Given the description of an element on the screen output the (x, y) to click on. 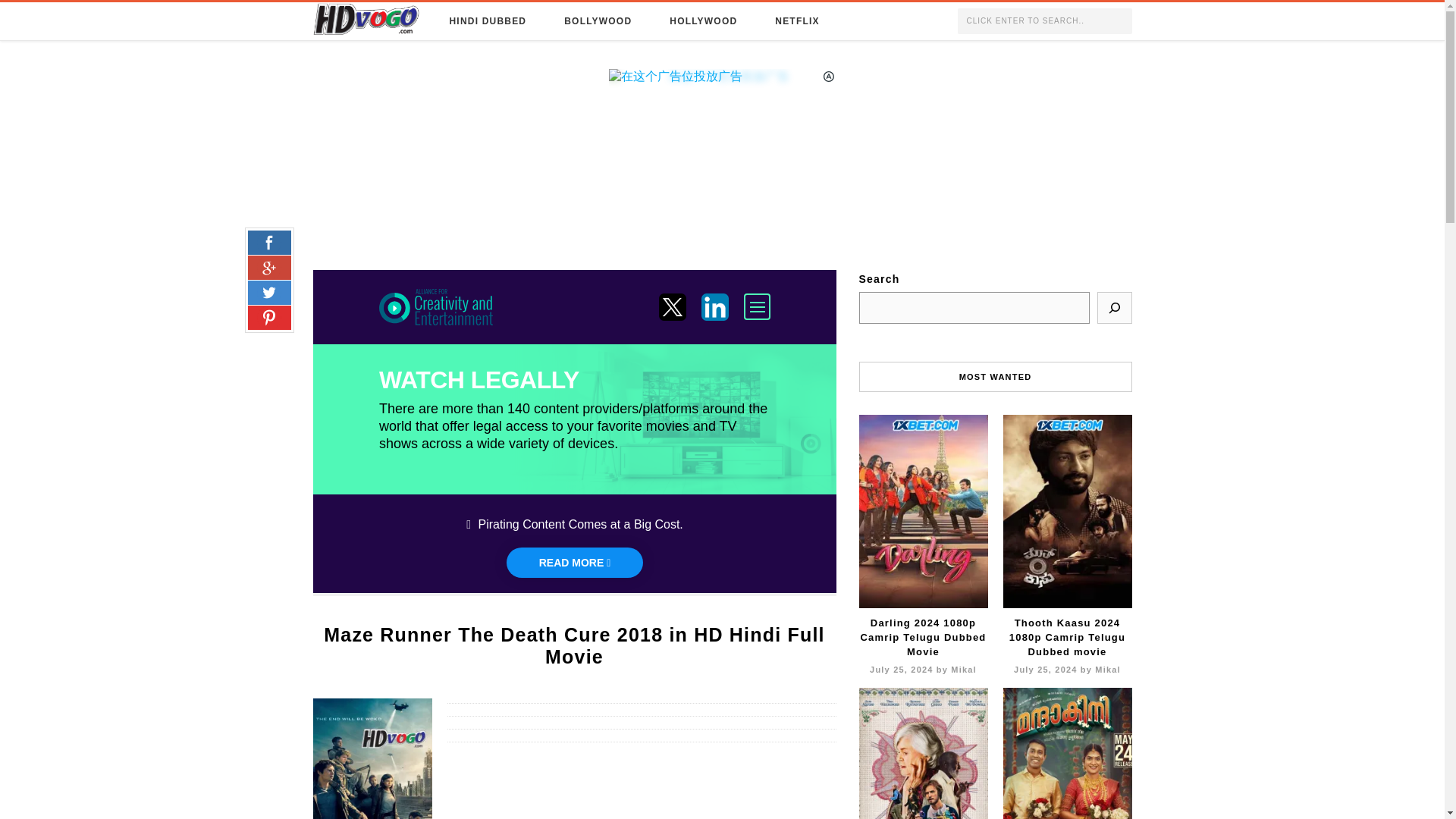
Hindi Dubbed (488, 21)
Click Enter to Search.. (1043, 21)
NETFLIX (796, 21)
HINDI DUBBED (488, 21)
BOLLYWOOD (597, 21)
Netflix (796, 21)
HollyWood (702, 21)
BollyWood (597, 21)
HOLLYWOOD (702, 21)
